Given the description of an element on the screen output the (x, y) to click on. 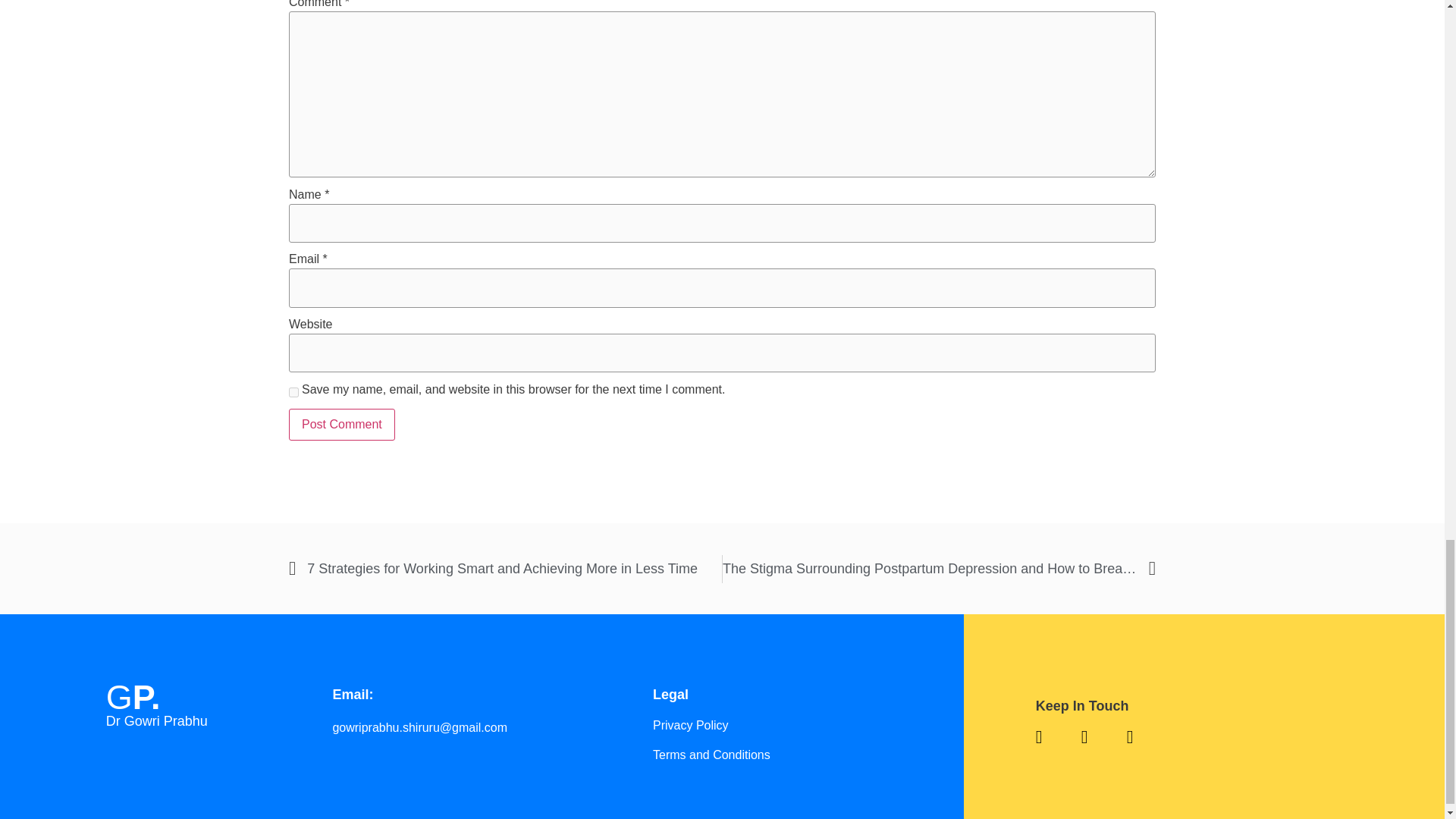
Post Comment (341, 424)
GP. (133, 697)
Privacy Policy (779, 725)
yes (293, 392)
Terms and Conditions (779, 755)
Post Comment (341, 424)
